Given the description of an element on the screen output the (x, y) to click on. 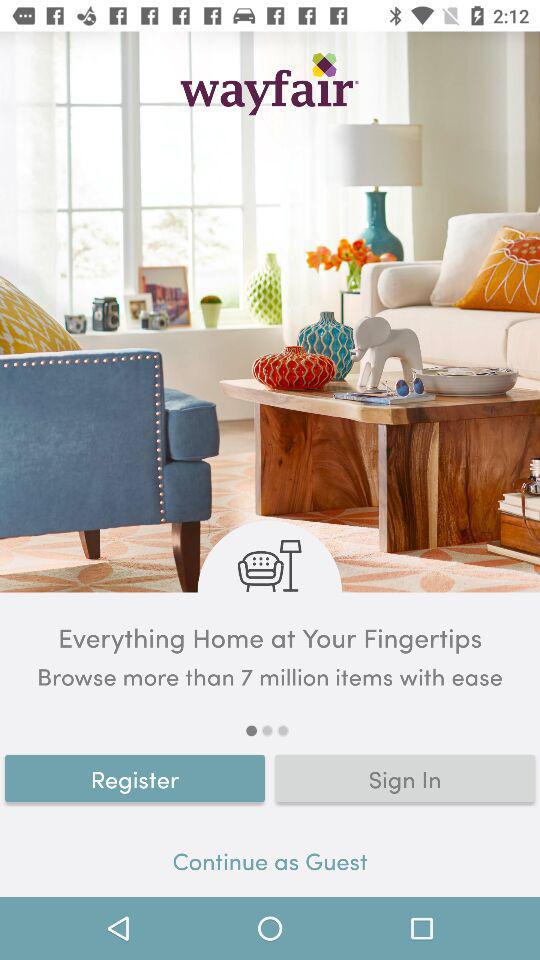
turn on the item next to the sign in item (135, 778)
